Given the description of an element on the screen output the (x, y) to click on. 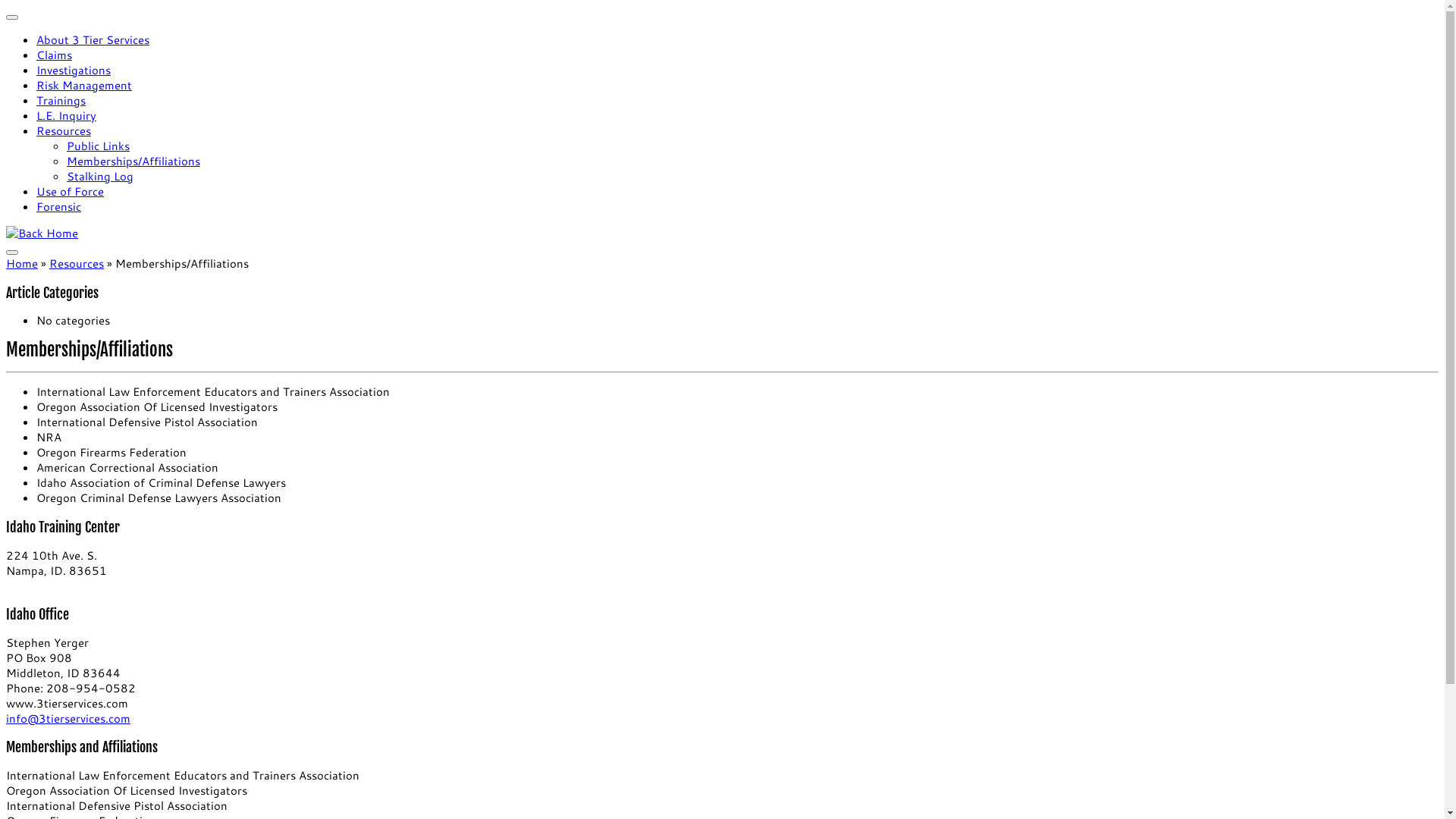
Public Links Element type: text (97, 145)
Stalking Log Element type: text (99, 176)
Forensic Element type: text (58, 206)
Use of Force Element type: text (69, 191)
Home Element type: text (21, 263)
Claims Element type: text (54, 54)
3 Tier Services | Excellence Through No Excuse Service Element type: hover (42, 233)
Resources Element type: text (76, 263)
Memberships/Affiliations Element type: text (133, 161)
About 3 Tier Services Element type: text (92, 39)
Close Element type: hover (12, 17)
Trainings Element type: text (60, 100)
info@3tierservices.com Element type: text (68, 718)
Resources Element type: text (63, 130)
L.E. Inquiry Element type: text (66, 115)
Investigations Element type: text (73, 70)
Risk Management Element type: text (83, 85)
Open the menu Element type: hover (12, 252)
